Given the description of an element on the screen output the (x, y) to click on. 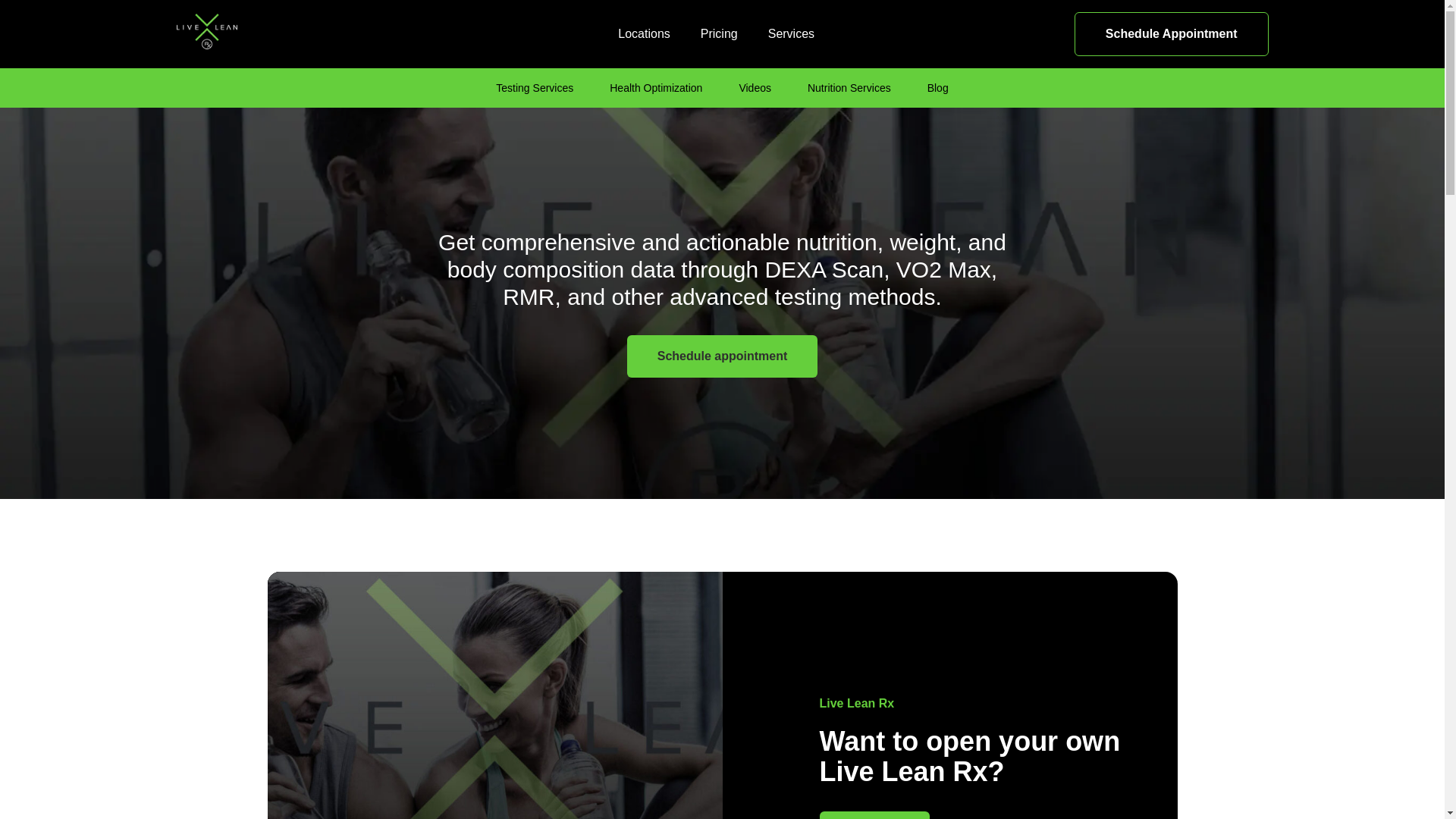
Health Optimization (655, 87)
Services (790, 33)
Pricing (719, 33)
Schedule Appointment (1171, 34)
Videos (754, 87)
Blog (874, 815)
Nutrition Services (938, 87)
Schedule appointment (849, 87)
Testing Services (722, 355)
Locations (534, 87)
